Given the description of an element on the screen output the (x, y) to click on. 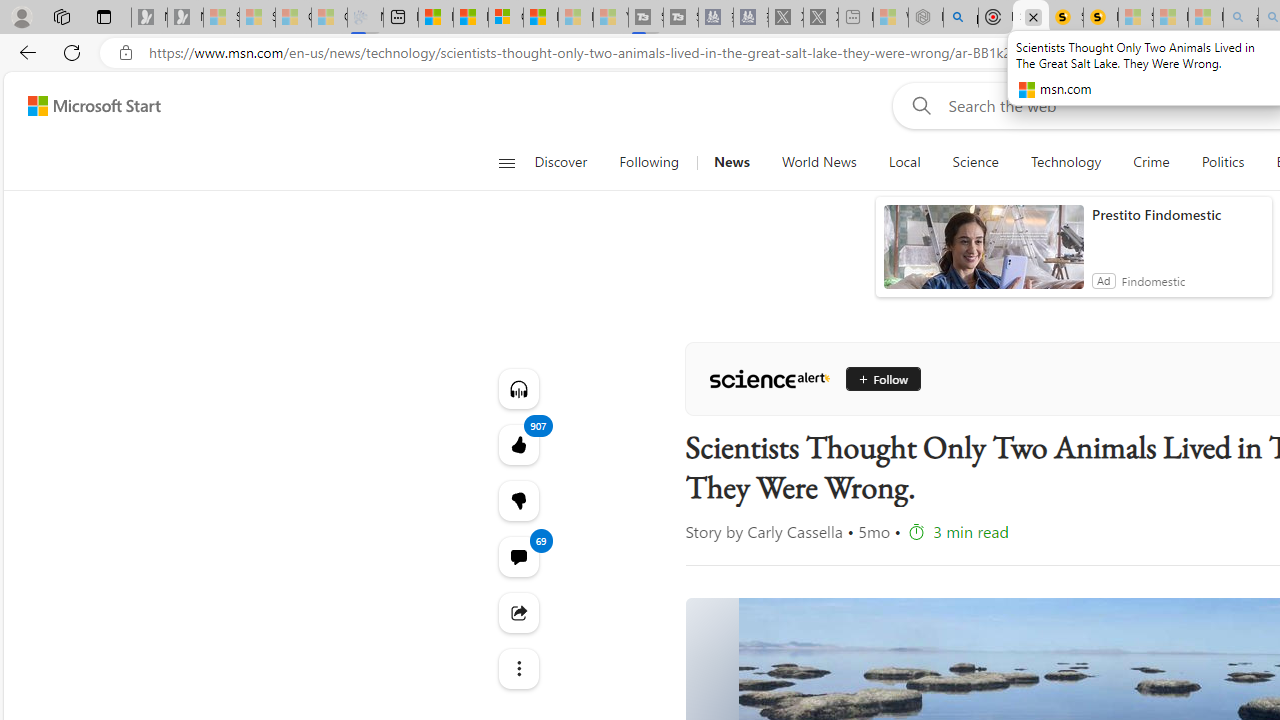
ScienceAlert (769, 378)
X - Sleeping (820, 17)
Overview (506, 17)
Technology (1066, 162)
Michelle Starr, Senior Journalist at ScienceAlert (1100, 17)
News (731, 162)
See more (517, 668)
News (731, 162)
anim-content (983, 255)
Skip to content (86, 105)
Findomestic (1153, 280)
